Given the description of an element on the screen output the (x, y) to click on. 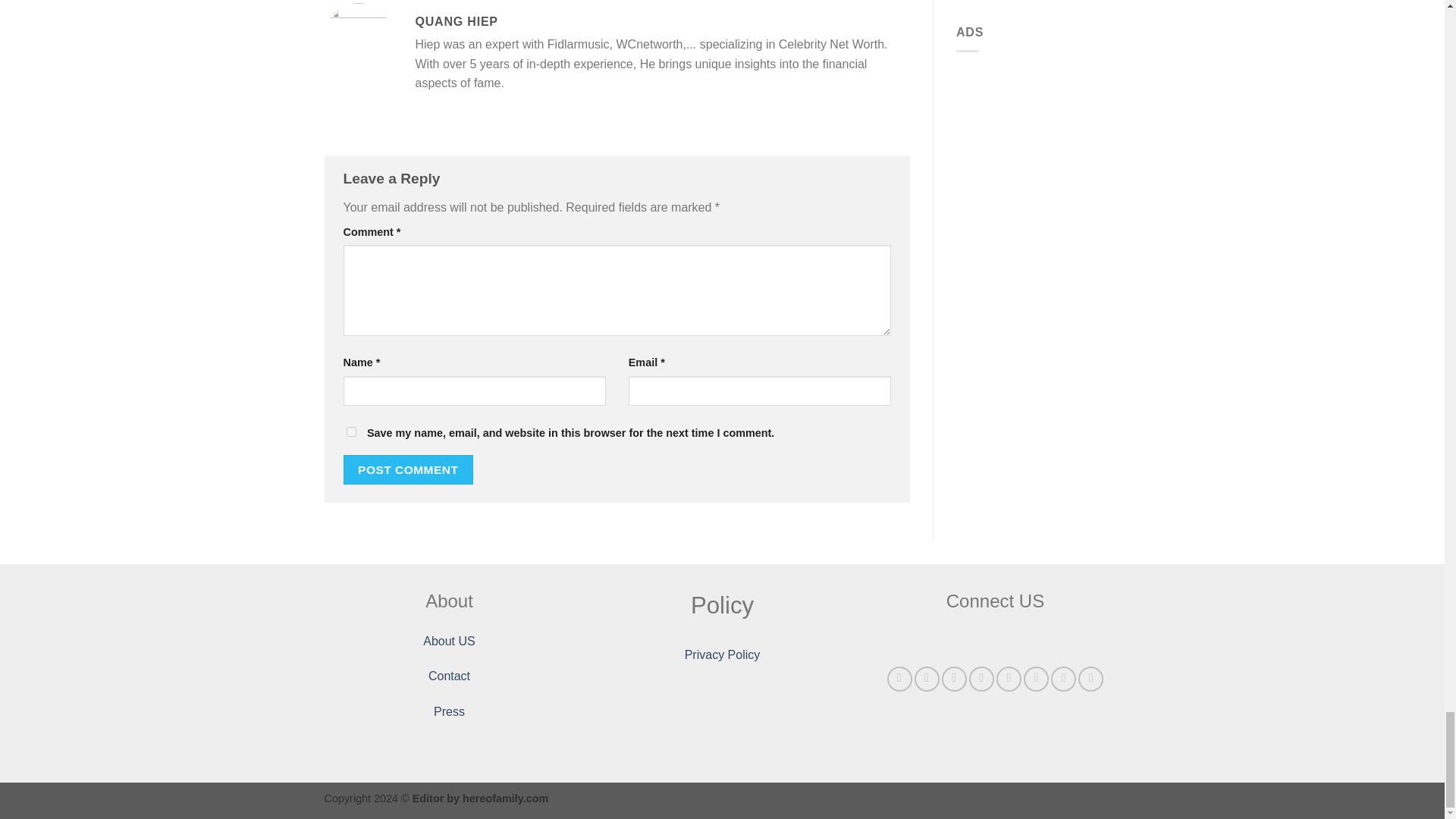
yes (350, 431)
Follow on Pinterest (1008, 678)
Follow on Telegram (1090, 678)
Follow on YouTube (1063, 678)
Send us an email (981, 678)
Follow on Instagram (926, 678)
Post Comment (407, 469)
Subscribe to RSS (1035, 678)
Follow on Facebook (899, 678)
Follow on Twitter (954, 678)
